Given the description of an element on the screen output the (x, y) to click on. 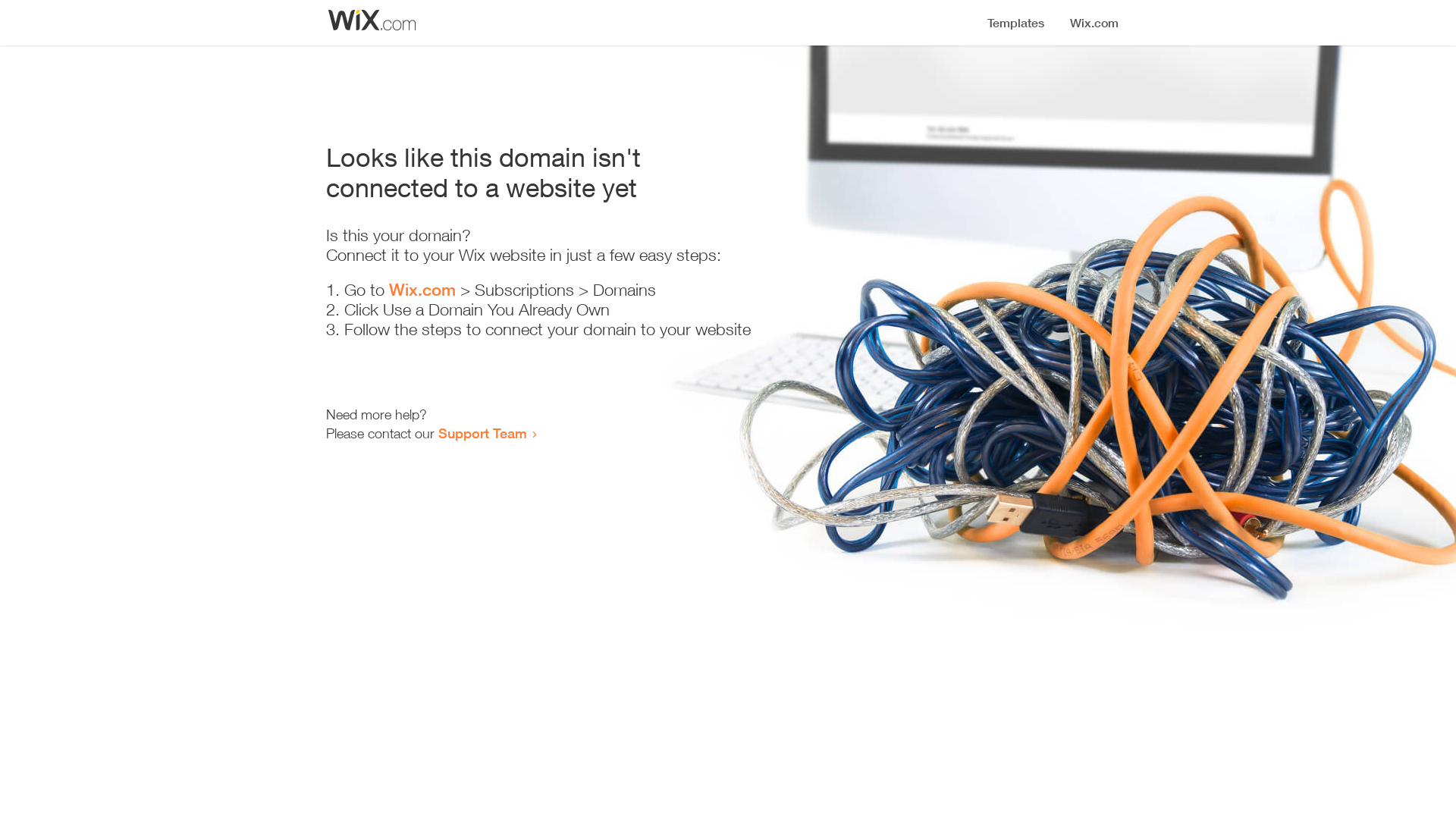
Support Team Element type: text (482, 432)
Wix.com Element type: text (422, 289)
